Given the description of an element on the screen output the (x, y) to click on. 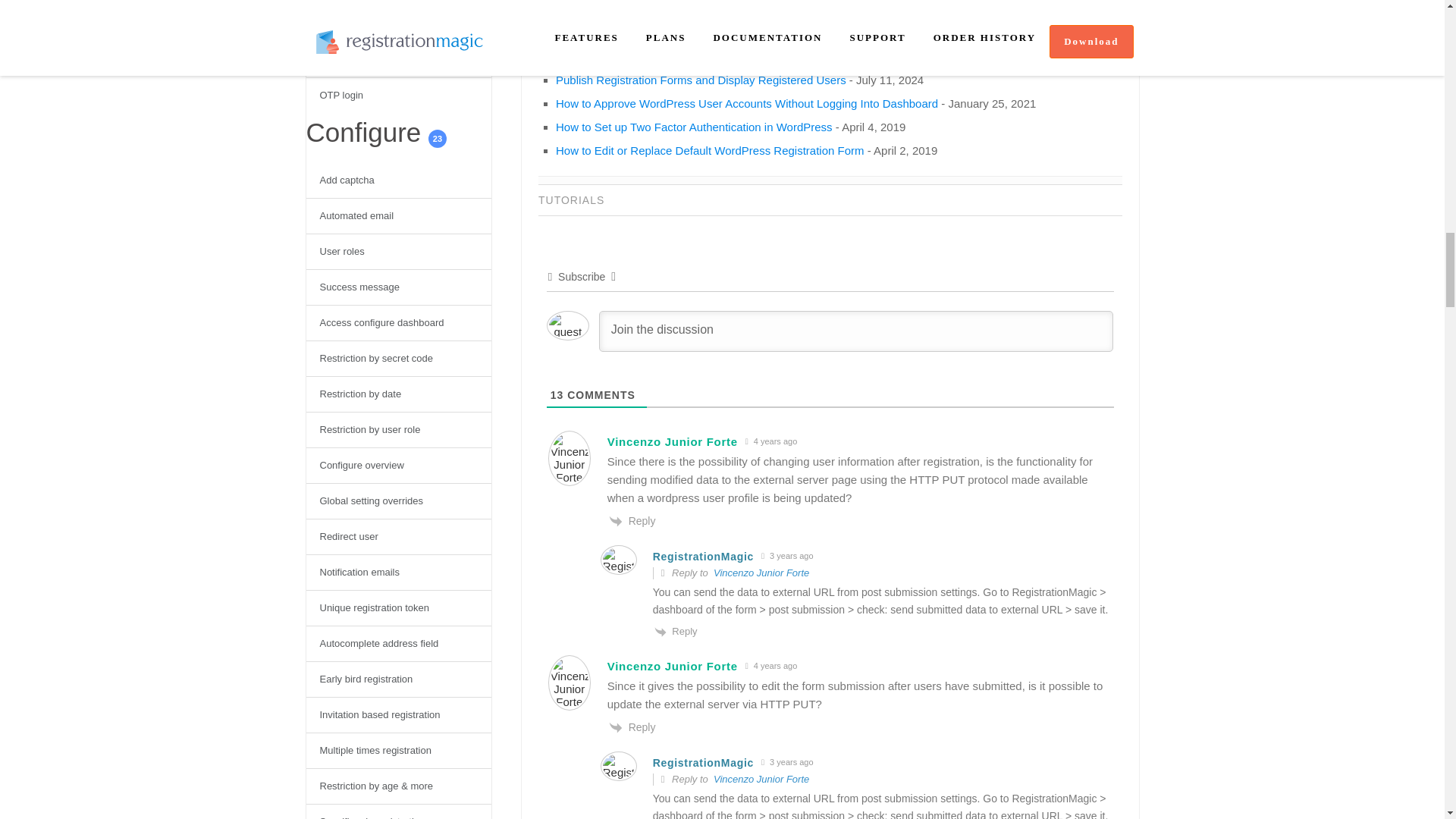
13 (557, 395)
July 13, 2020 2:25 pm (771, 666)
Publish Registration Forms and Display Registered Users (700, 79)
How to Edit or Replace Default WordPress Registration Form (710, 150)
TUTORIALS (571, 200)
July 23, 2020 2:24 pm (771, 441)
How to Send Automated Welcome Emails in WordPress (696, 9)
How to Display Custom Success Message in WordPress Forms (716, 56)
August 24, 2020 7:02 am (786, 762)
